Given the description of an element on the screen output the (x, y) to click on. 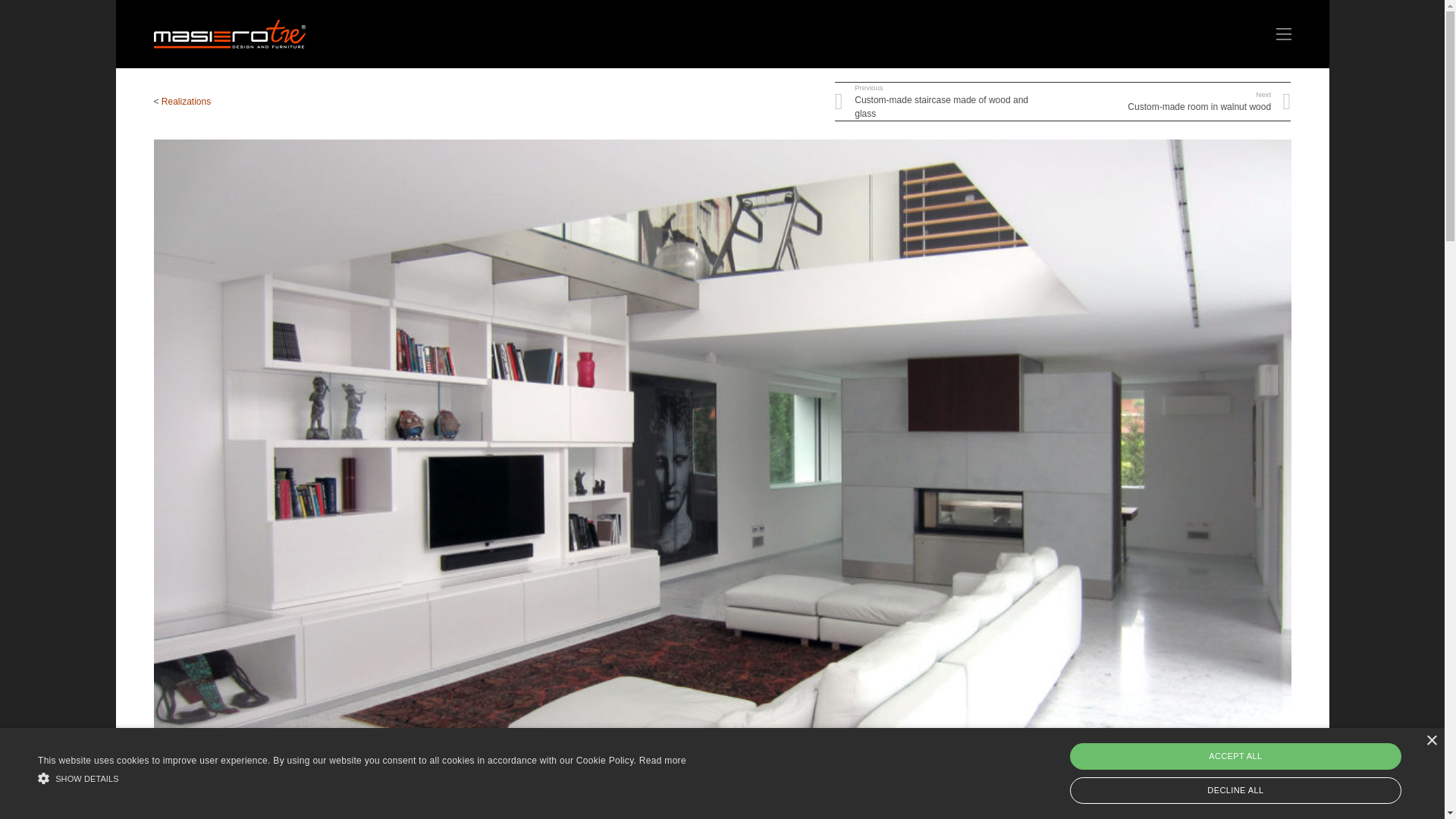
Custom-made room in walnut wood (1176, 101)
Back to top (1413, 816)
Custom-made staircase made of wood and glass (948, 101)
Realizations (1176, 101)
Read more (186, 101)
